Given the description of an element on the screen output the (x, y) to click on. 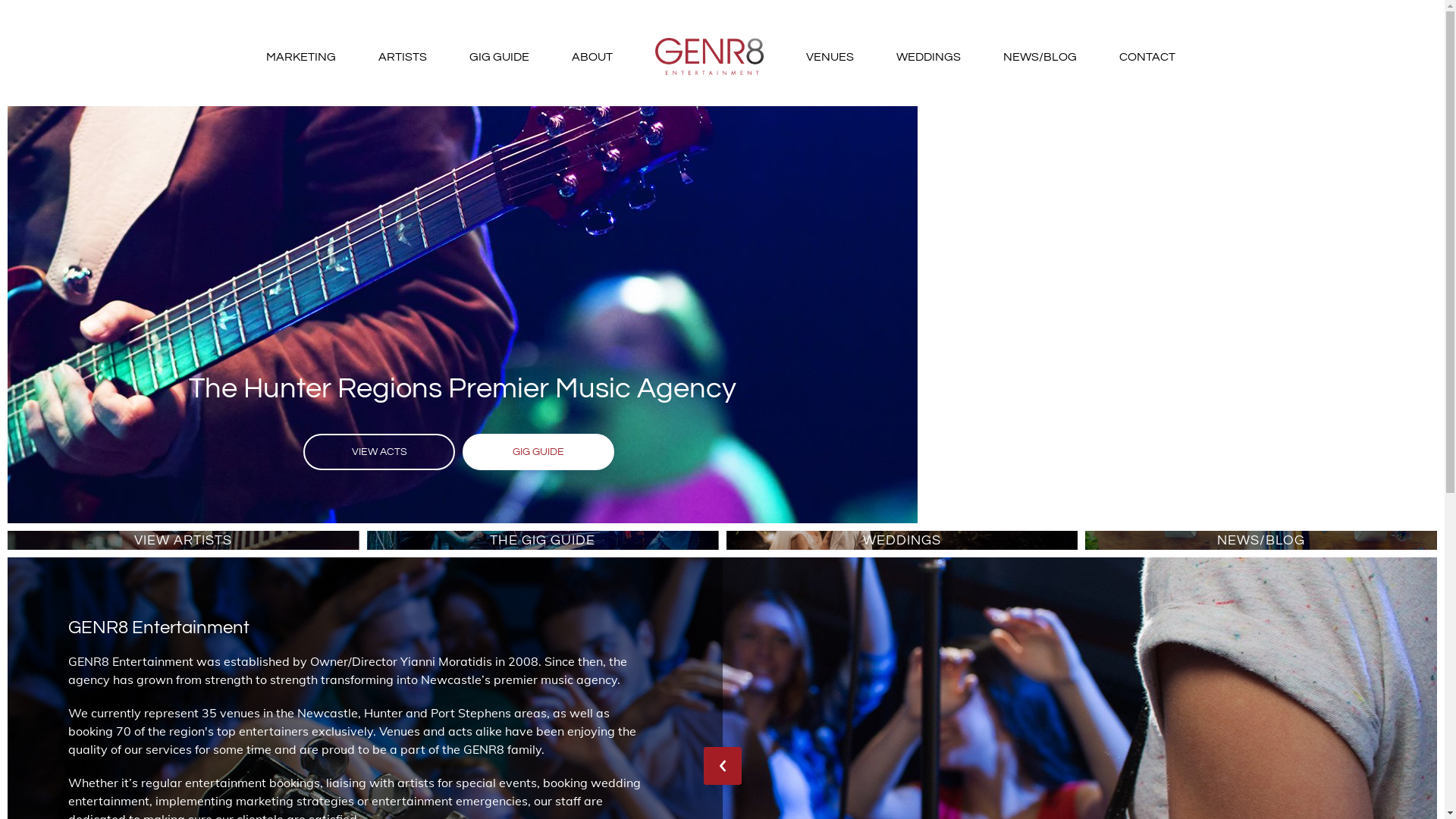
GIG GUIDE Element type: text (538, 451)
THE GIG GUIDE Element type: text (542, 539)
GIG GUIDE Element type: text (498, 56)
WEDDINGS Element type: text (902, 539)
ABOUT Element type: text (591, 56)
ARTISTS Element type: text (401, 56)
NEWS/BLOG Element type: text (1039, 56)
NEWS/BLOG Element type: text (1261, 539)
VIEW ARTISTS Element type: text (183, 539)
CONTACT Element type: text (1147, 56)
VENUES Element type: text (829, 56)
WEDDINGS Element type: text (928, 56)
VIEW ACTS Element type: text (379, 451)
MARKETING Element type: text (300, 56)
